Given the description of an element on the screen output the (x, y) to click on. 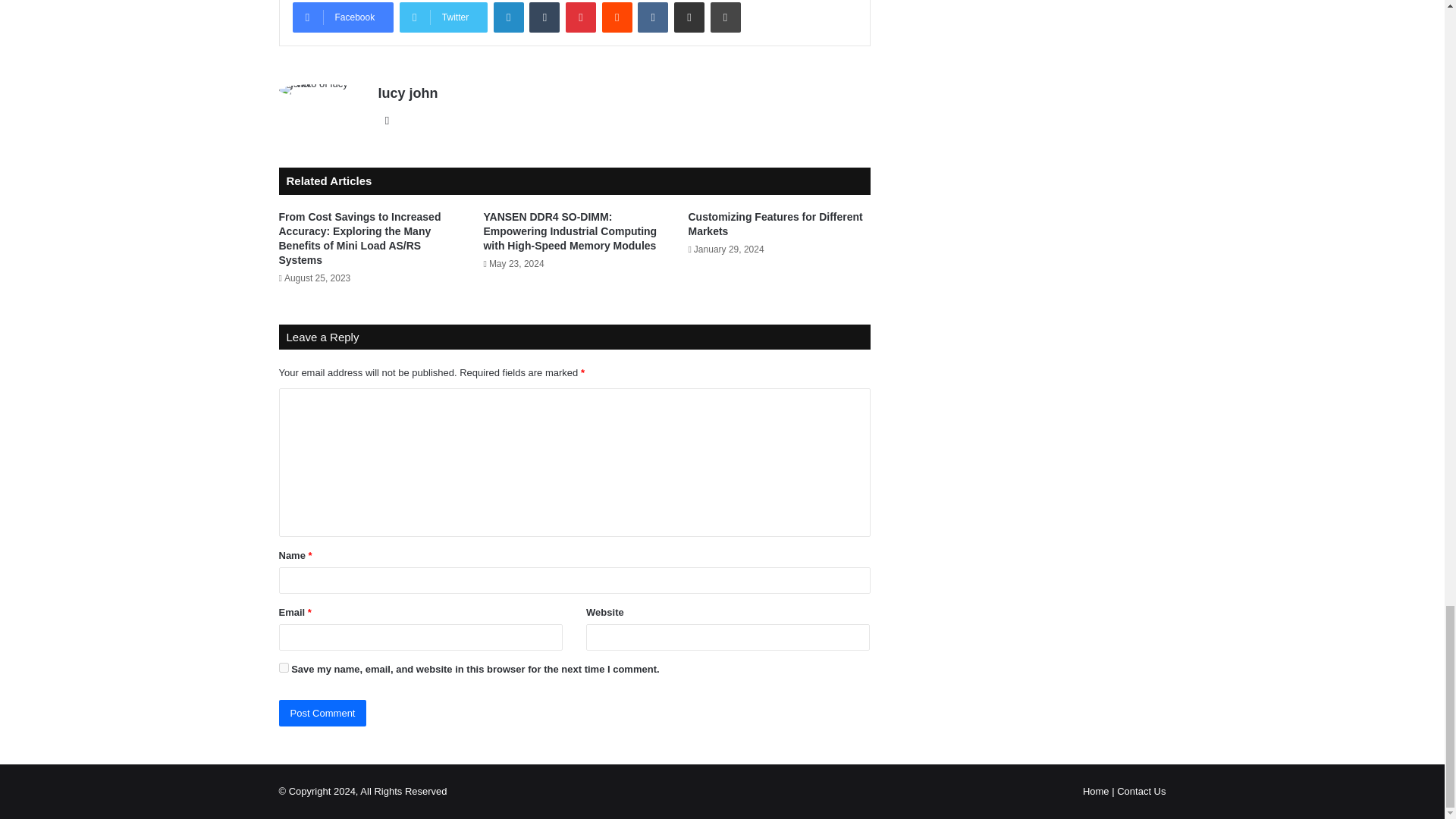
Twitter (442, 17)
Pinterest (580, 17)
VKontakte (652, 17)
Tumblr (544, 17)
Facebook (343, 17)
LinkedIn (508, 17)
Share via Email (689, 17)
lucy john (407, 92)
VKontakte (652, 17)
Twitter (442, 17)
Facebook (343, 17)
LinkedIn (508, 17)
Reddit (616, 17)
Print (725, 17)
